Given the description of an element on the screen output the (x, y) to click on. 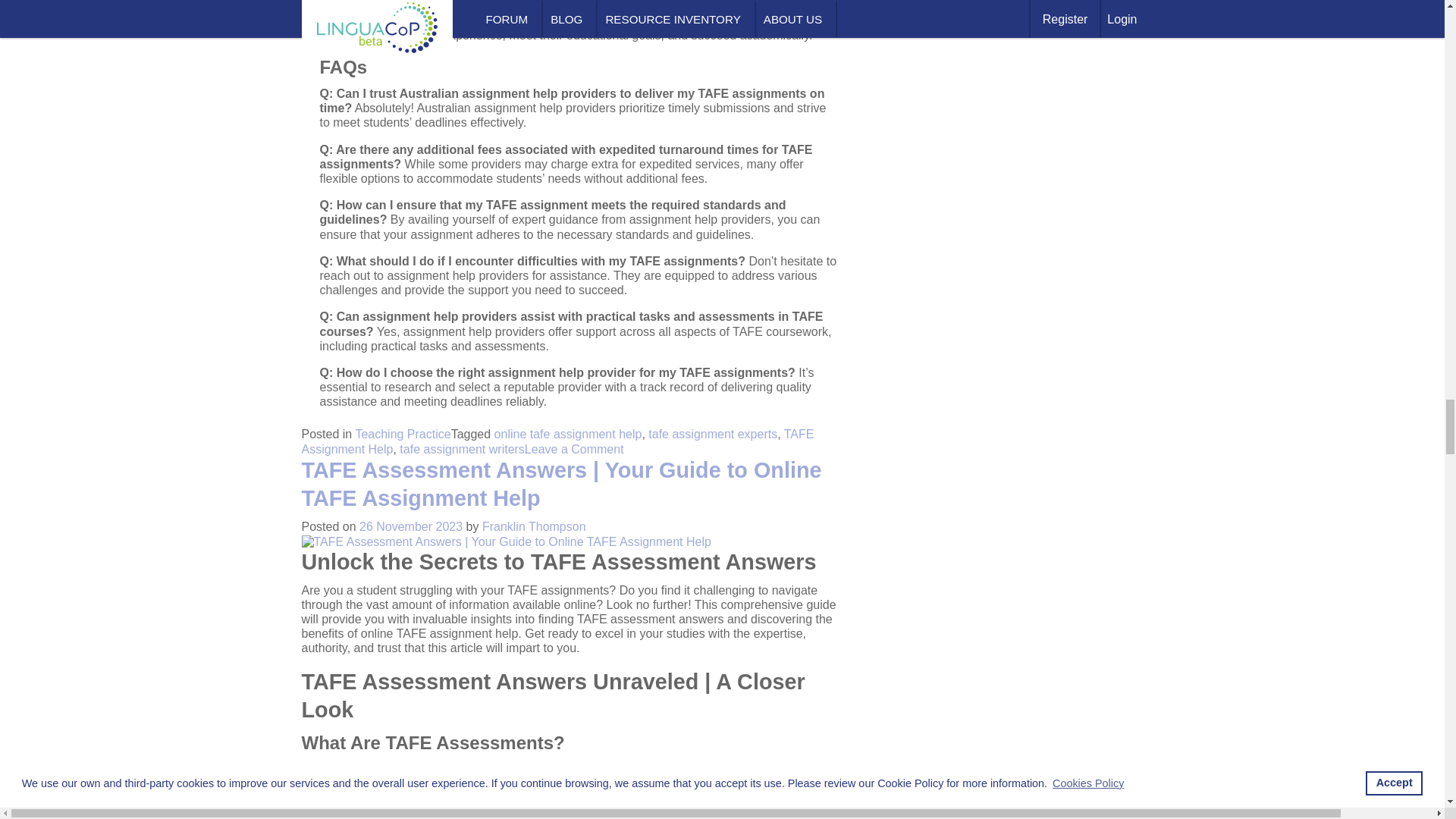
Teaching Practice (402, 433)
